Given the description of an element on the screen output the (x, y) to click on. 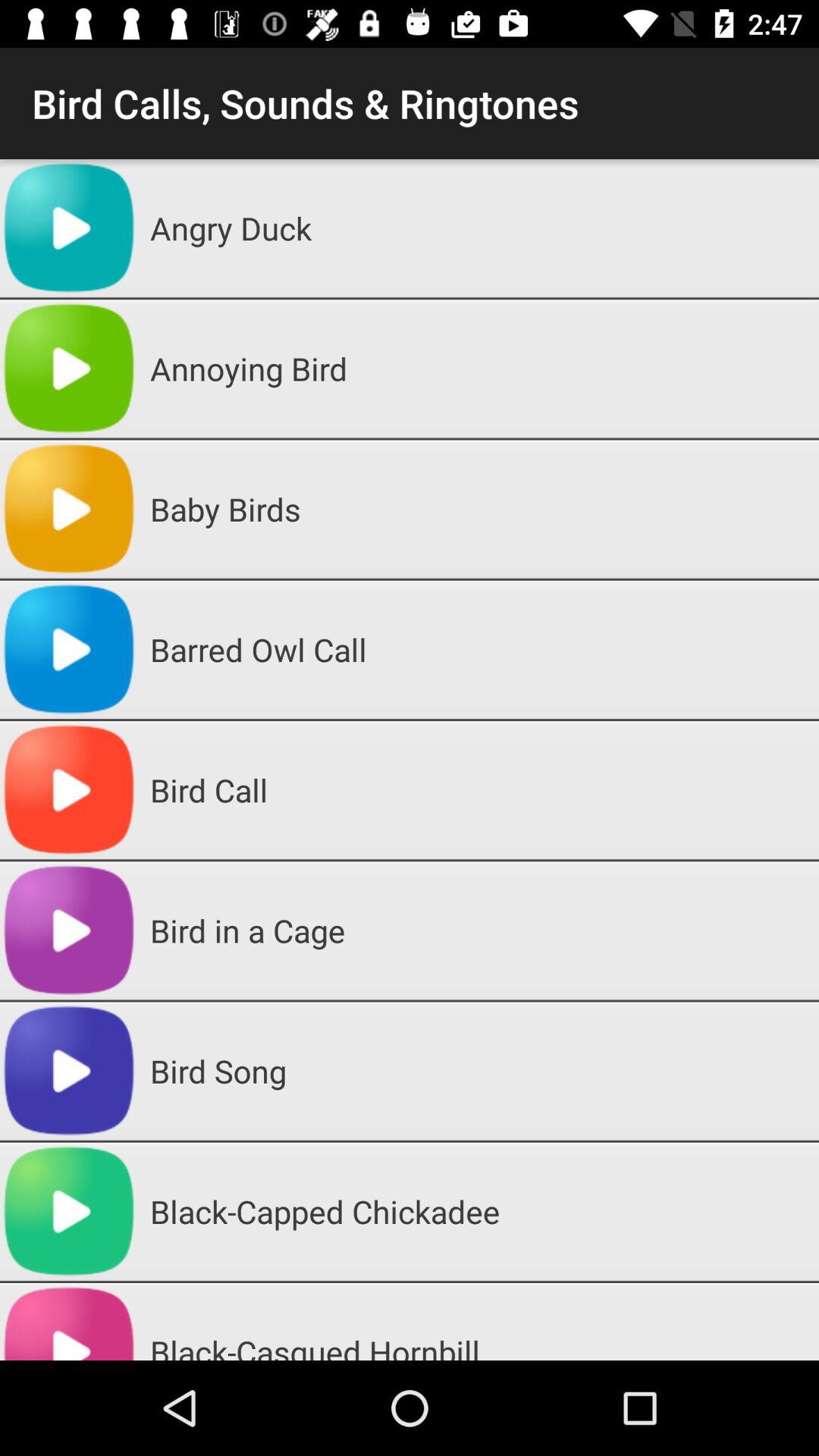
click the barred owl call icon (478, 649)
